Given the description of an element on the screen output the (x, y) to click on. 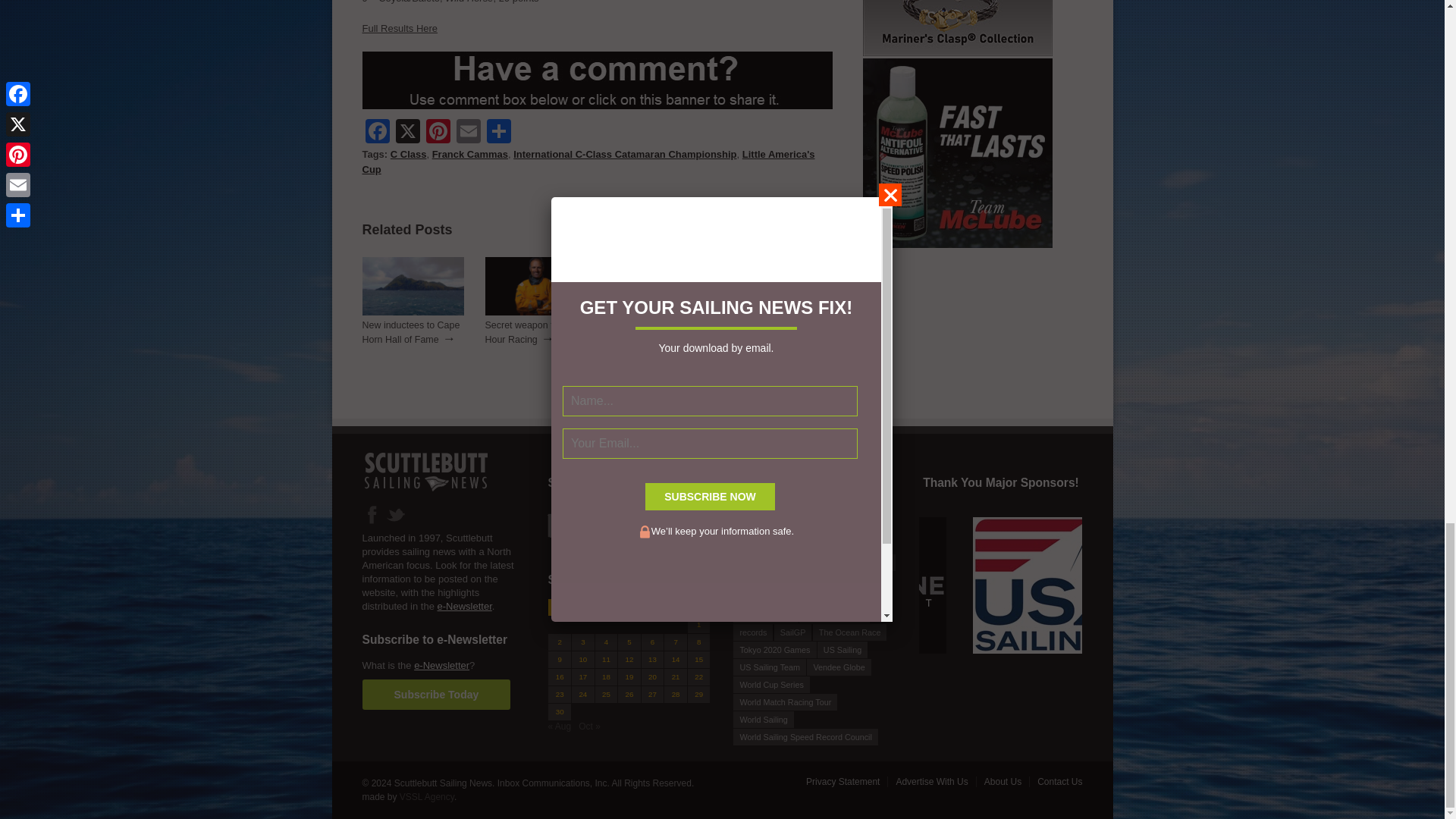
Secret weapon for 11th Hour Racing (535, 312)
Aborted effort for Jules Verne Trophy (659, 312)
Facebook (377, 132)
Aborted effort for Jules Verne Trophy (655, 332)
Email (467, 132)
International C-Class Catamaran Championship (624, 153)
Attempt begins for Jules Verne Trophy (781, 312)
Franck Cammas (470, 153)
X (408, 132)
Little America's Cup (588, 161)
New inductees to Cape Horn Hall of Fame (411, 332)
X (408, 132)
Full Results Here (400, 28)
Pinterest (437, 132)
C Class (408, 153)
